Given the description of an element on the screen output the (x, y) to click on. 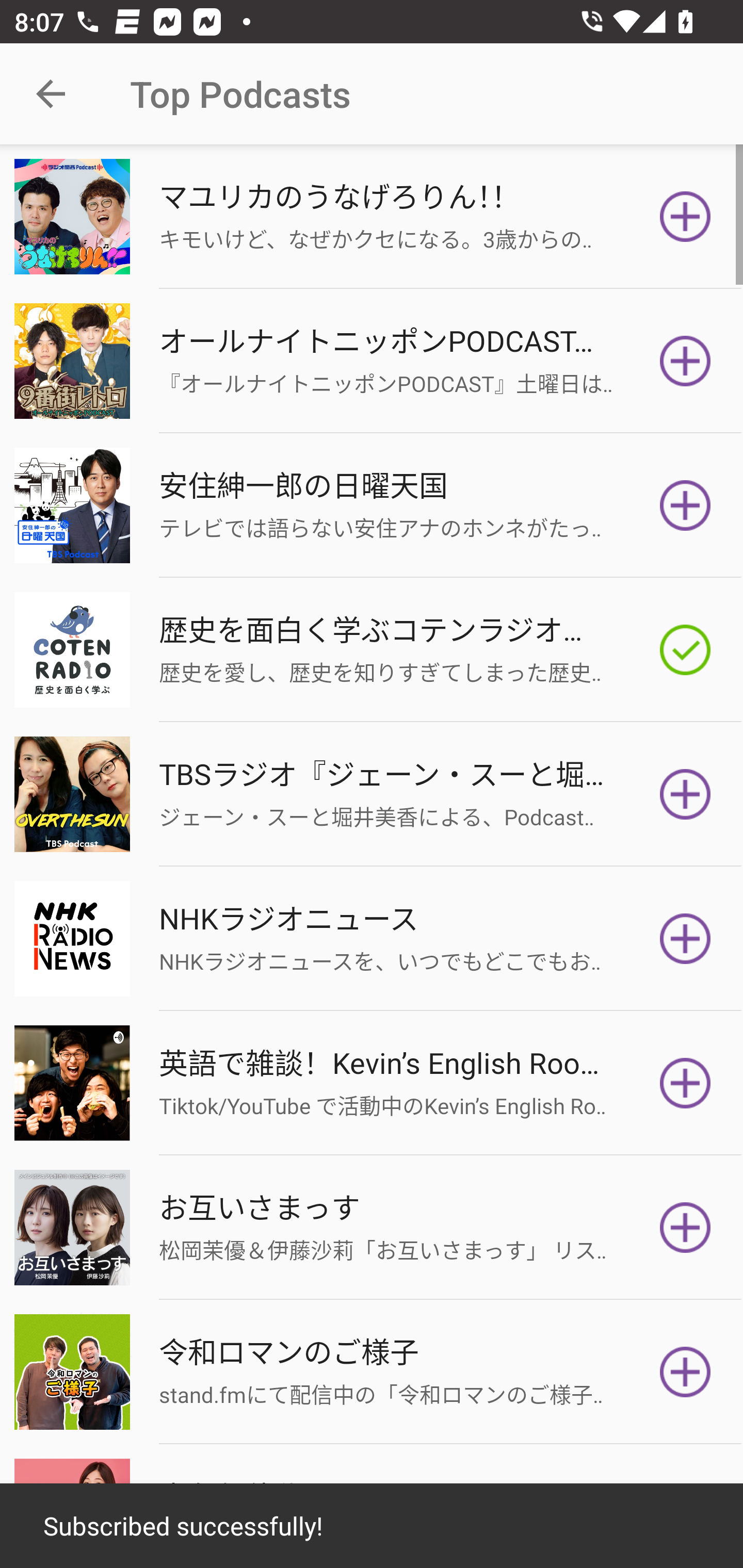
Navigate up (50, 93)
Subscribe (685, 216)
Subscribe (685, 360)
Subscribe (685, 505)
Subscribed (685, 649)
Subscribe (685, 793)
Subscribe (685, 939)
Subscribe (685, 1083)
Subscribe (685, 1227)
Subscribe (685, 1371)
Subscribed successfully! (371, 1525)
